Given the description of an element on the screen output the (x, y) to click on. 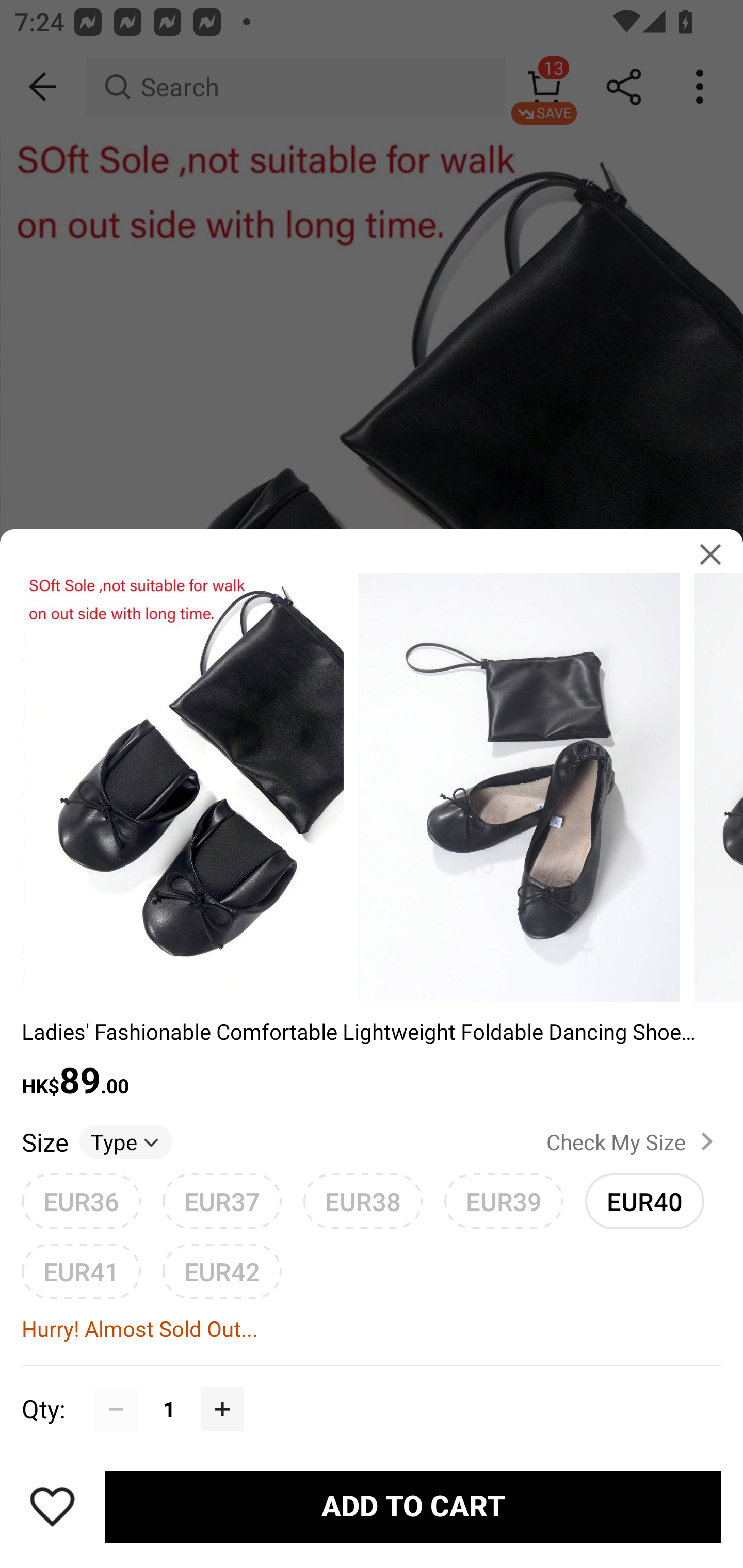
Size (44, 1141)
Type (126, 1141)
Check My Size (633, 1142)
EUR36 (81, 1200)
EUR37 (221, 1200)
EUR38 (362, 1200)
EUR39 (503, 1200)
EUR40 unselected option (644, 1200)
EUR41 (81, 1271)
EUR42 (221, 1271)
Hurry! Almost Sold Out... (371, 1328)
ADD TO CART (412, 1506)
Save (52, 1505)
